Given the description of an element on the screen output the (x, y) to click on. 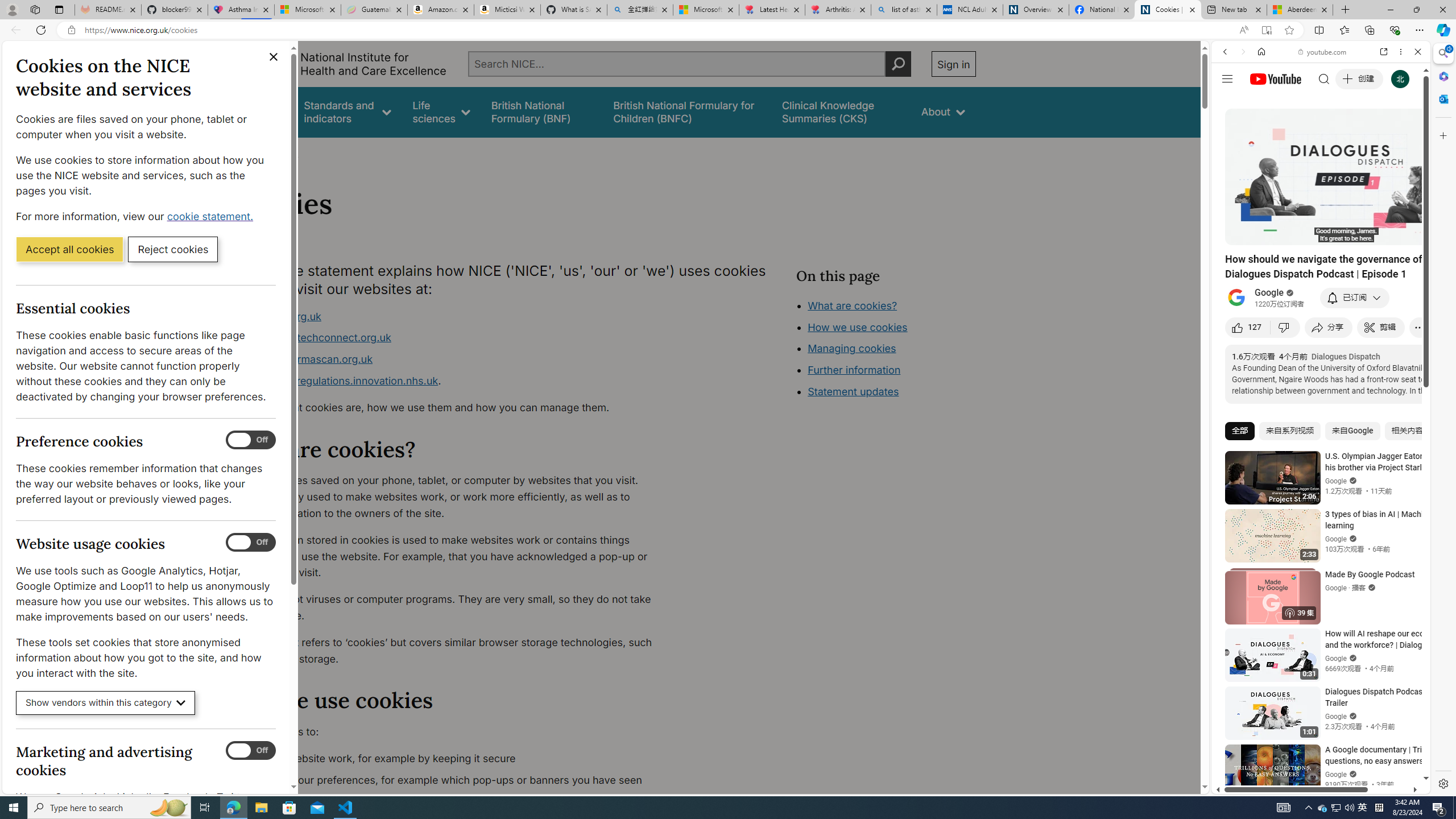
Show More Music (1390, 310)
Search Filter, VIDEOS (1300, 129)
www.healthtechconnect.org.uk (314, 337)
WEB   (1230, 130)
About (942, 111)
www.nice.org.uk (452, 316)
What are cookies? (852, 305)
